Given the description of an element on the screen output the (x, y) to click on. 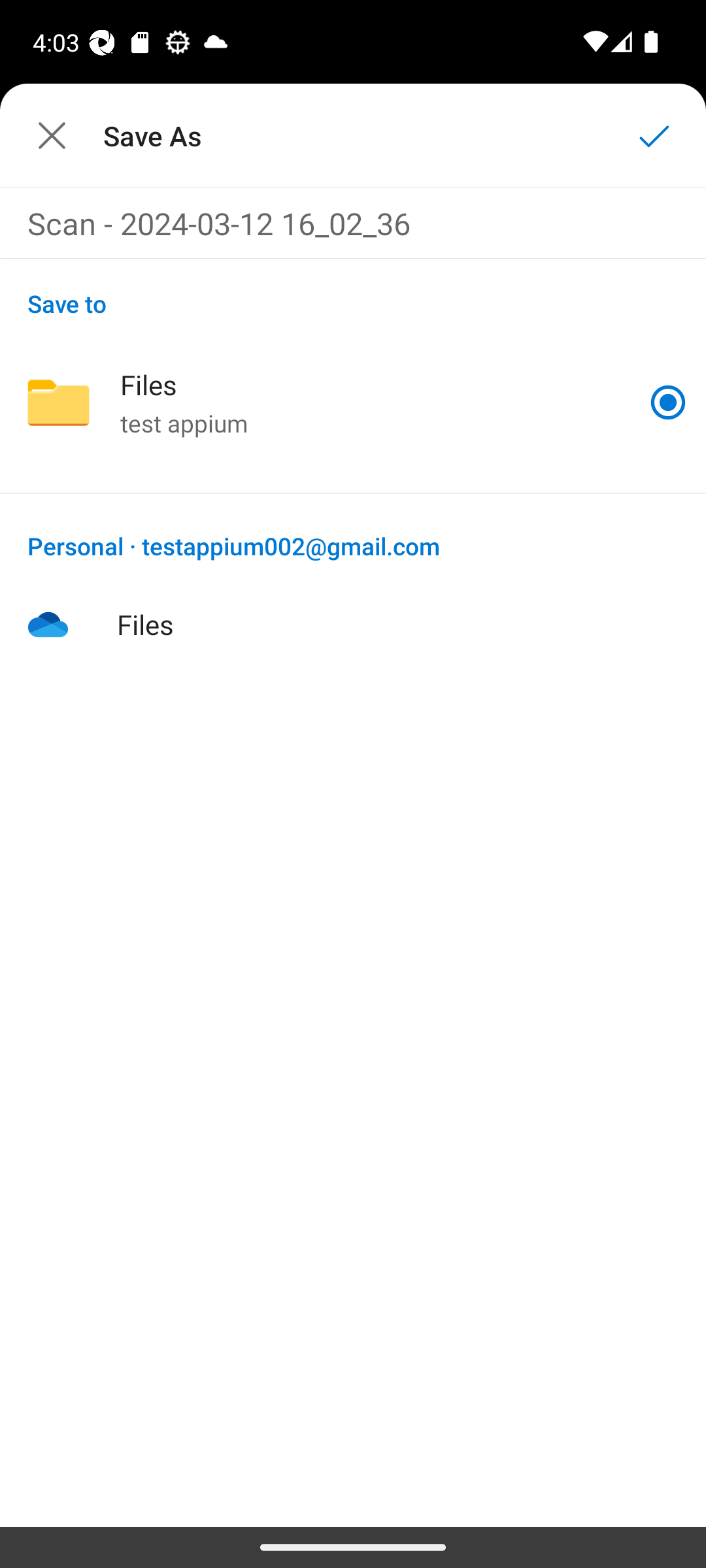
Cancel (51, 134)
Done (654, 134)
Scan - 2024-03-12 16_02_36 (353, 222)
Files test appium Tap to select item (353, 402)
Files (353, 623)
